Given the description of an element on the screen output the (x, y) to click on. 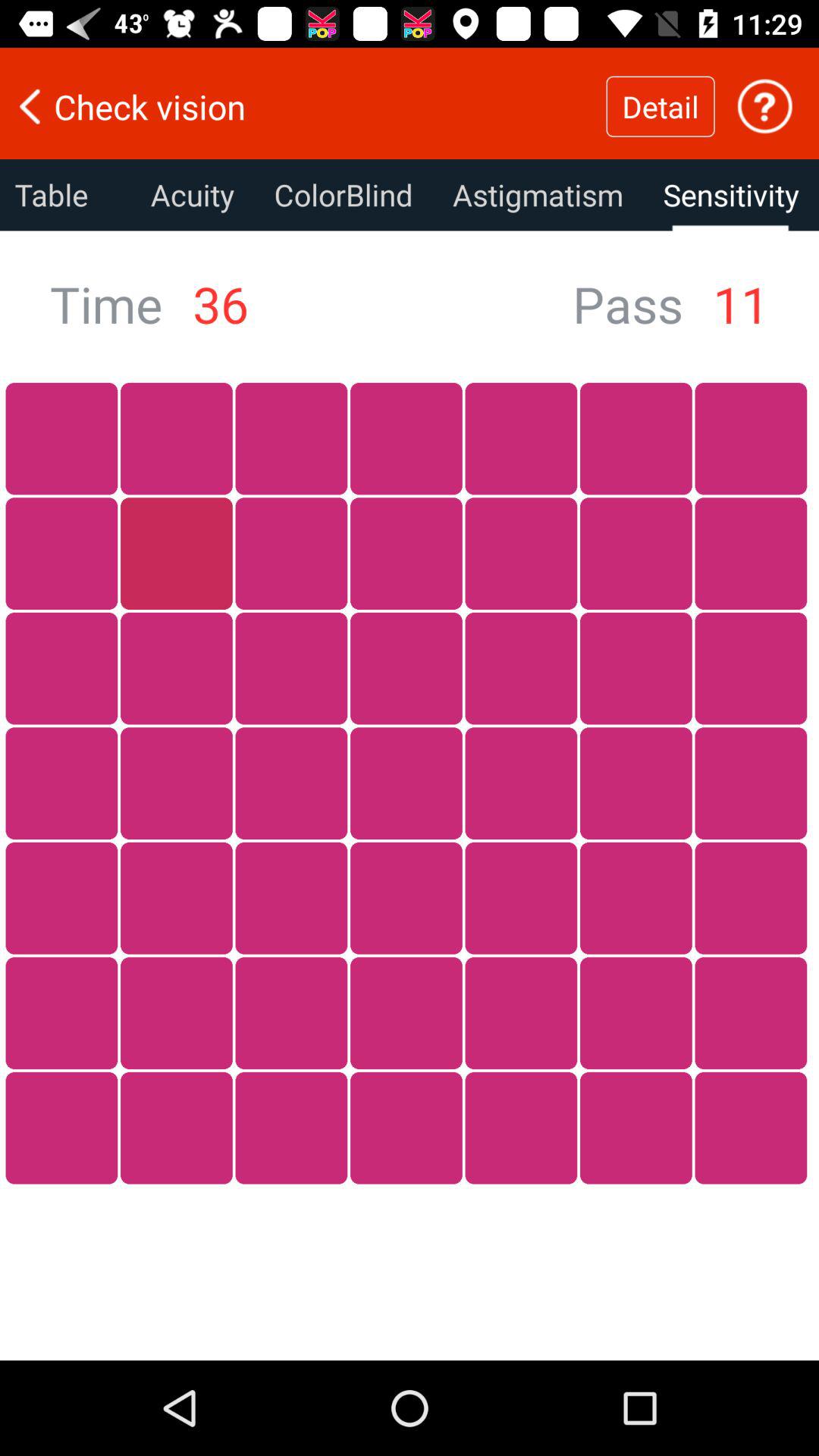
scroll to acuity (192, 194)
